Given the description of an element on the screen output the (x, y) to click on. 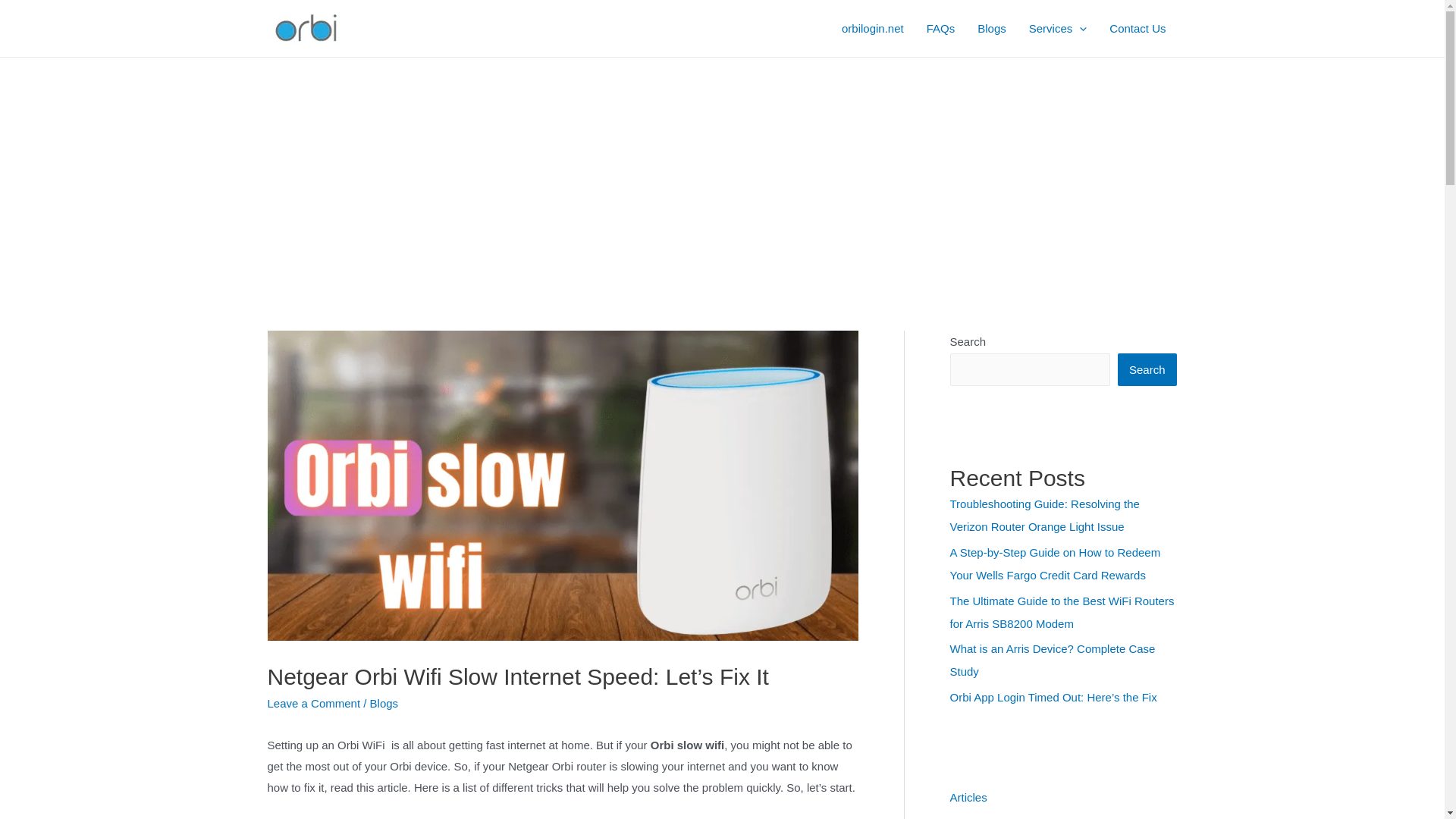
Blogs (383, 703)
Blogs (991, 27)
Services (1058, 27)
FAQs (940, 27)
Leave a Comment (312, 703)
Contact Us (1136, 27)
orbilogin.net (872, 27)
